Given the description of an element on the screen output the (x, y) to click on. 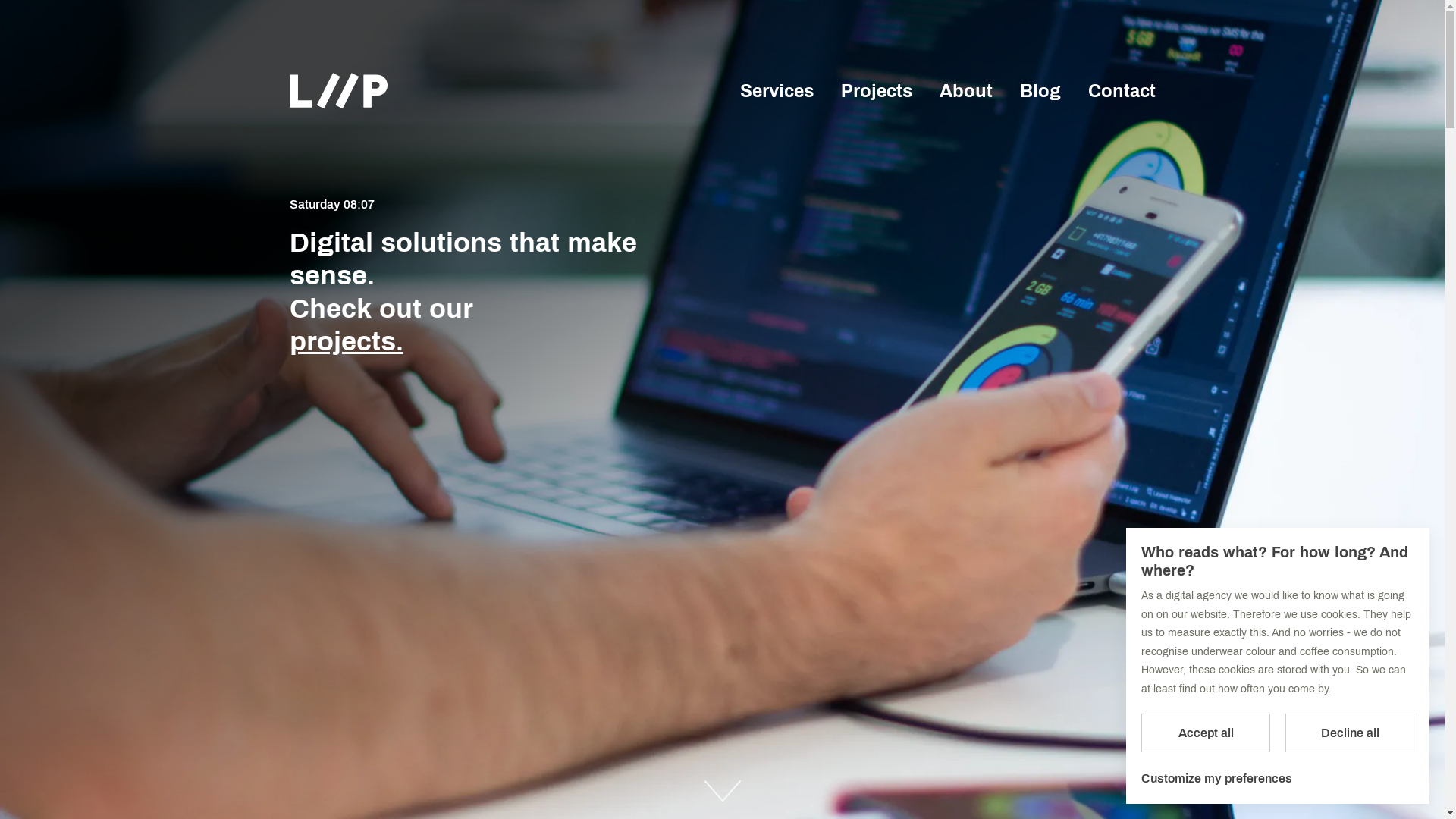
Accept all Element type: text (1205, 732)
Decline all Element type: text (1349, 732)
Contact Element type: text (1120, 90)
About Element type: text (964, 90)
Projects Element type: text (875, 90)
Blog Element type: text (1039, 90)
projects. Element type: text (346, 341)
Customize my preferences Element type: text (1216, 778)
Services Element type: text (776, 90)
